Given the description of an element on the screen output the (x, y) to click on. 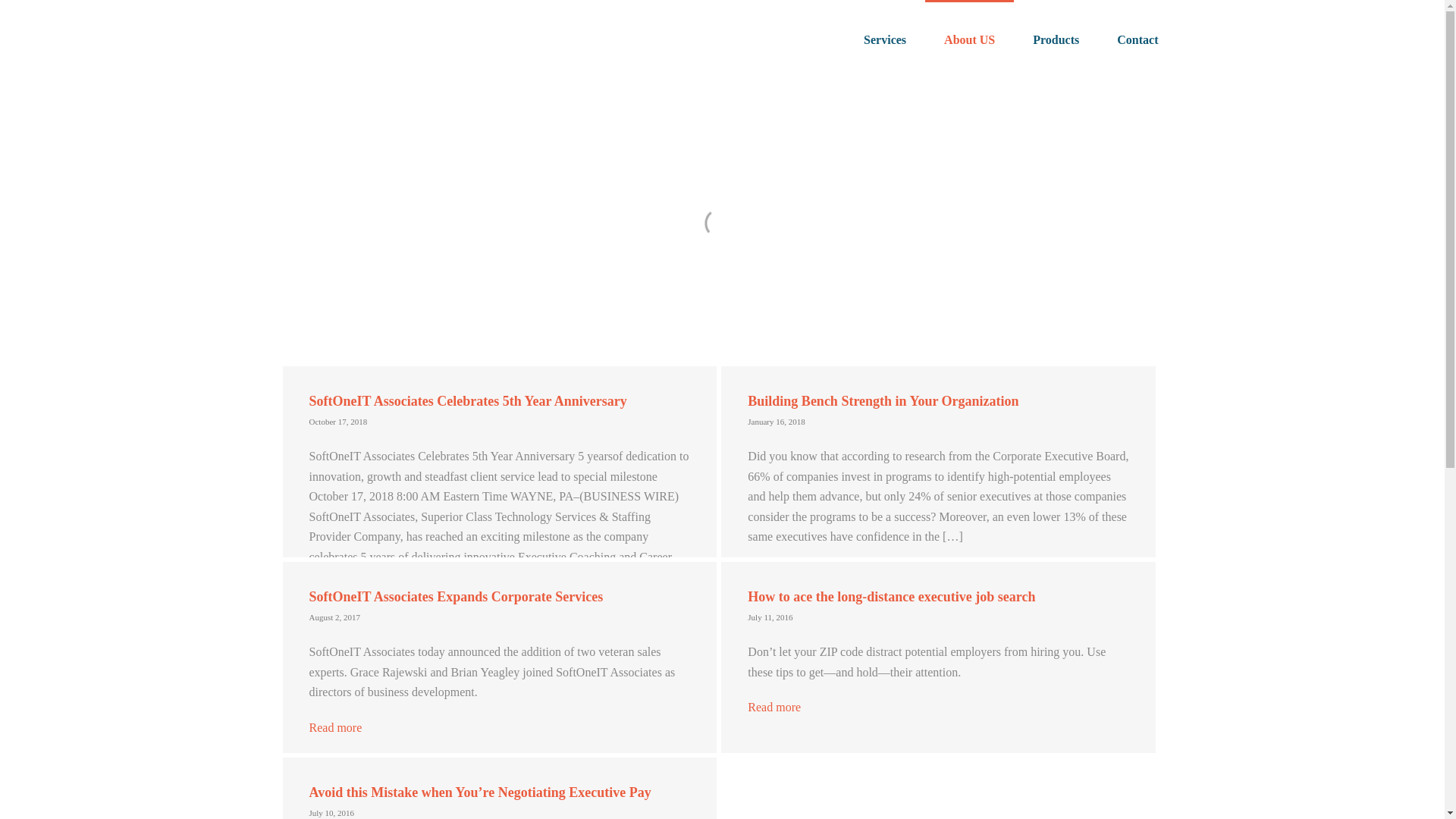
Services (884, 38)
About US (968, 38)
Contact (1136, 38)
Services (884, 38)
About US (968, 38)
Products (1055, 38)
Contact (1136, 38)
Products (1055, 38)
